Given the description of an element on the screen output the (x, y) to click on. 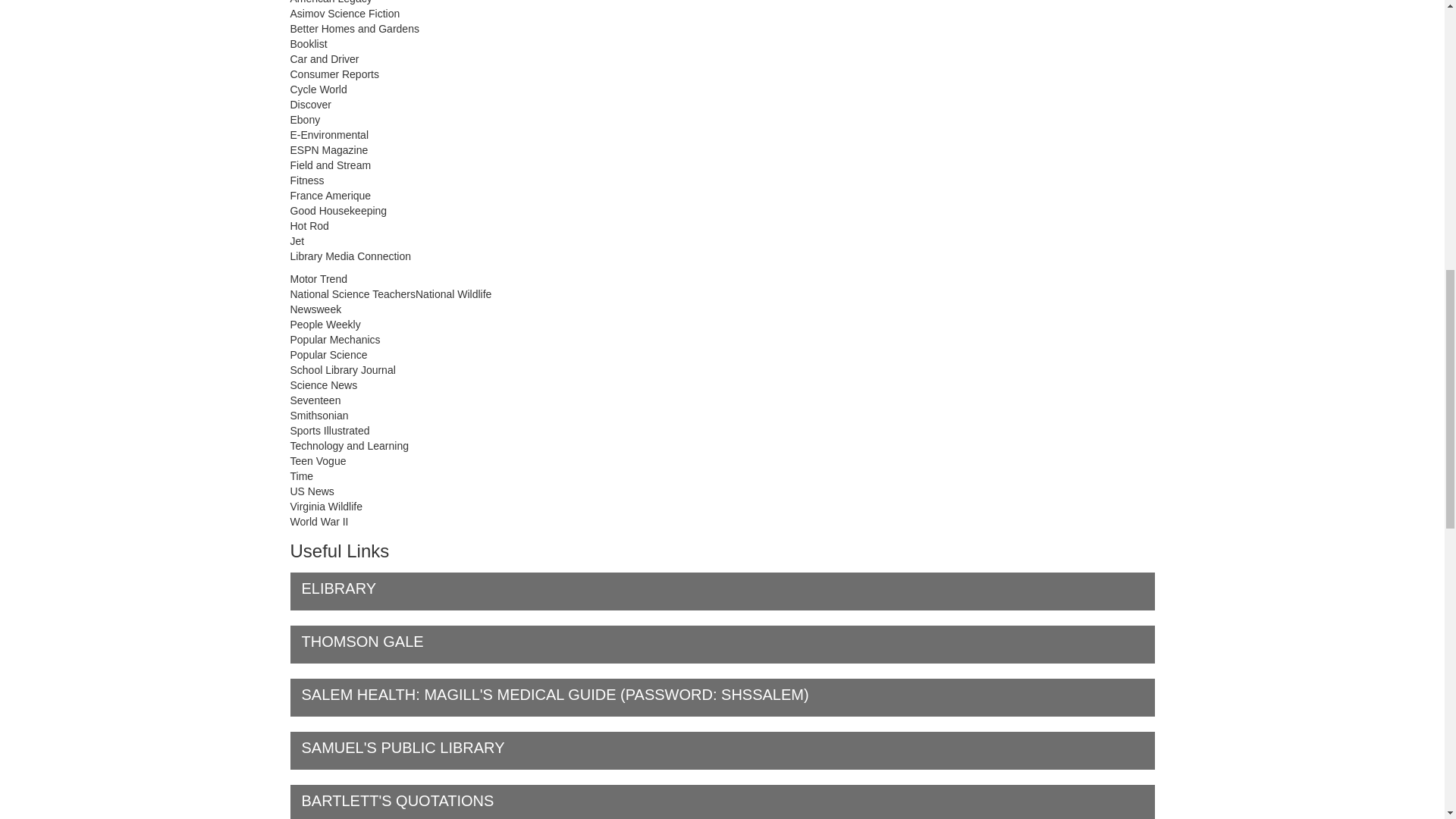
eLibrary (721, 591)
Samuel's Public Library (721, 750)
Bartlett's Quotations (721, 801)
Thomson Gale (721, 644)
